Given the description of an element on the screen output the (x, y) to click on. 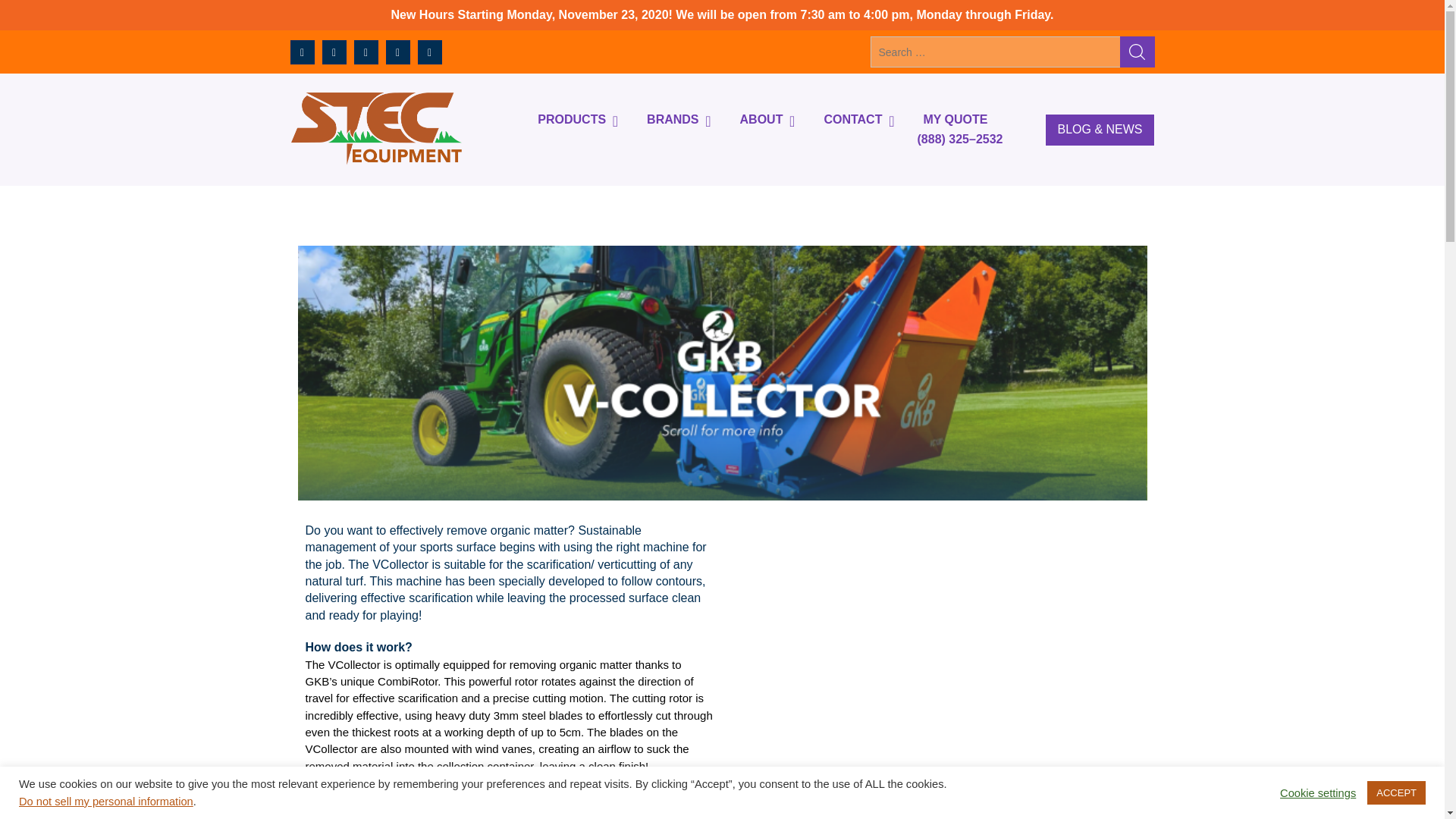
Search (1136, 51)
TWITTER (301, 52)
Search (1136, 51)
BRANDS (672, 119)
STEC EQUIPMENT, INC. (462, 182)
FACEBOOK (333, 52)
INSTAGRAM (365, 52)
YOUTUBE (397, 52)
LINKEDIN (428, 52)
PRODUCTS (571, 119)
